Given the description of an element on the screen output the (x, y) to click on. 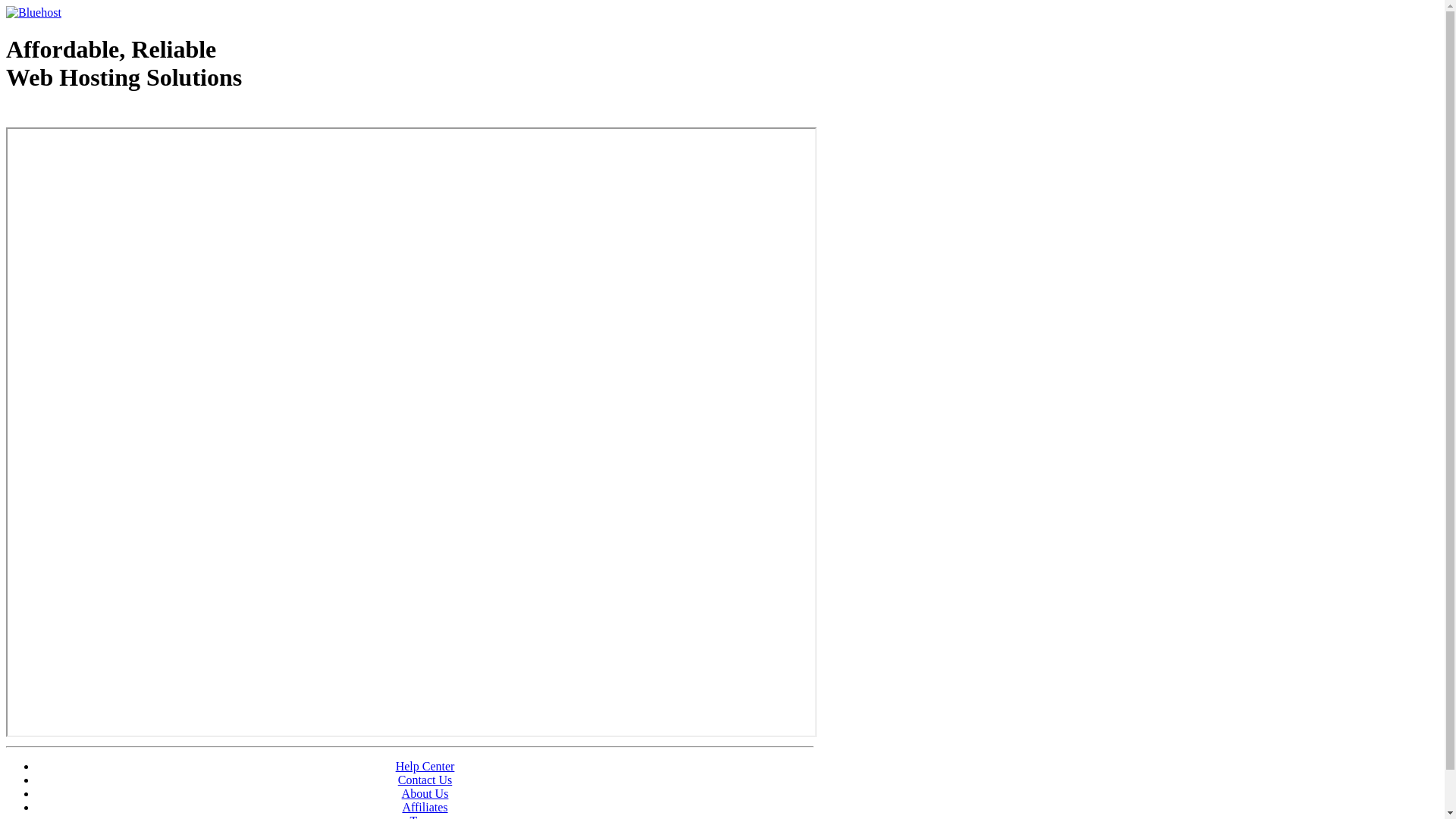
Help Center Element type: text (425, 765)
Affiliates Element type: text (424, 806)
About Us Element type: text (424, 793)
Contact Us Element type: text (425, 779)
Web Hosting - courtesy of www.bluehost.com Element type: text (94, 115)
